Given the description of an element on the screen output the (x, y) to click on. 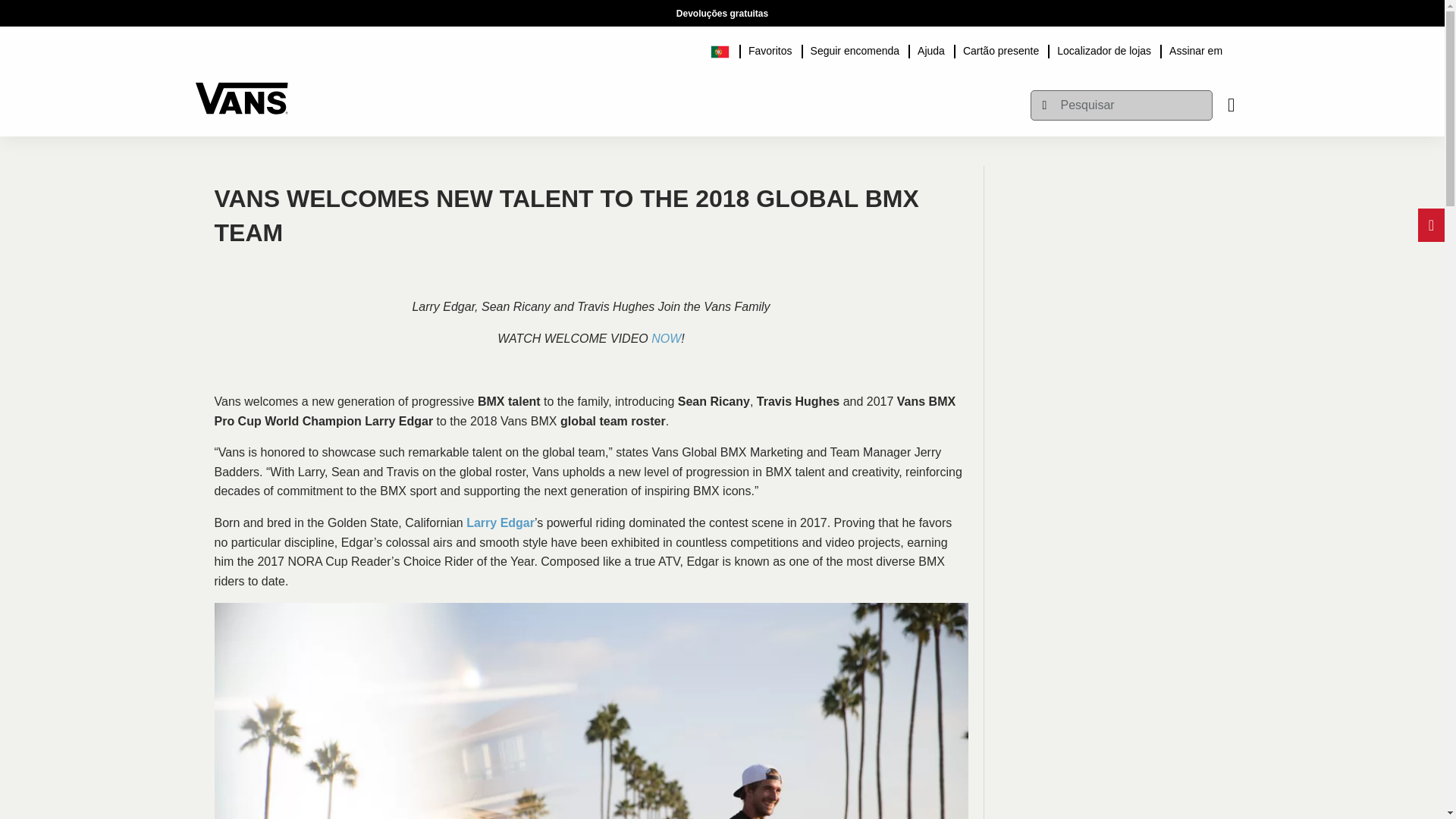
Seguir encomenda (855, 48)
Portugal (724, 48)
Vans (241, 91)
Ajuda (930, 48)
Favoritos (770, 48)
Skip to main content (202, 7)
Localizador de lojas (1104, 48)
Seguir encomenda (855, 48)
Assinar em (1195, 48)
Ajuda (930, 48)
Localizador de lojas (1104, 48)
Assinar em (1195, 48)
